Given the description of an element on the screen output the (x, y) to click on. 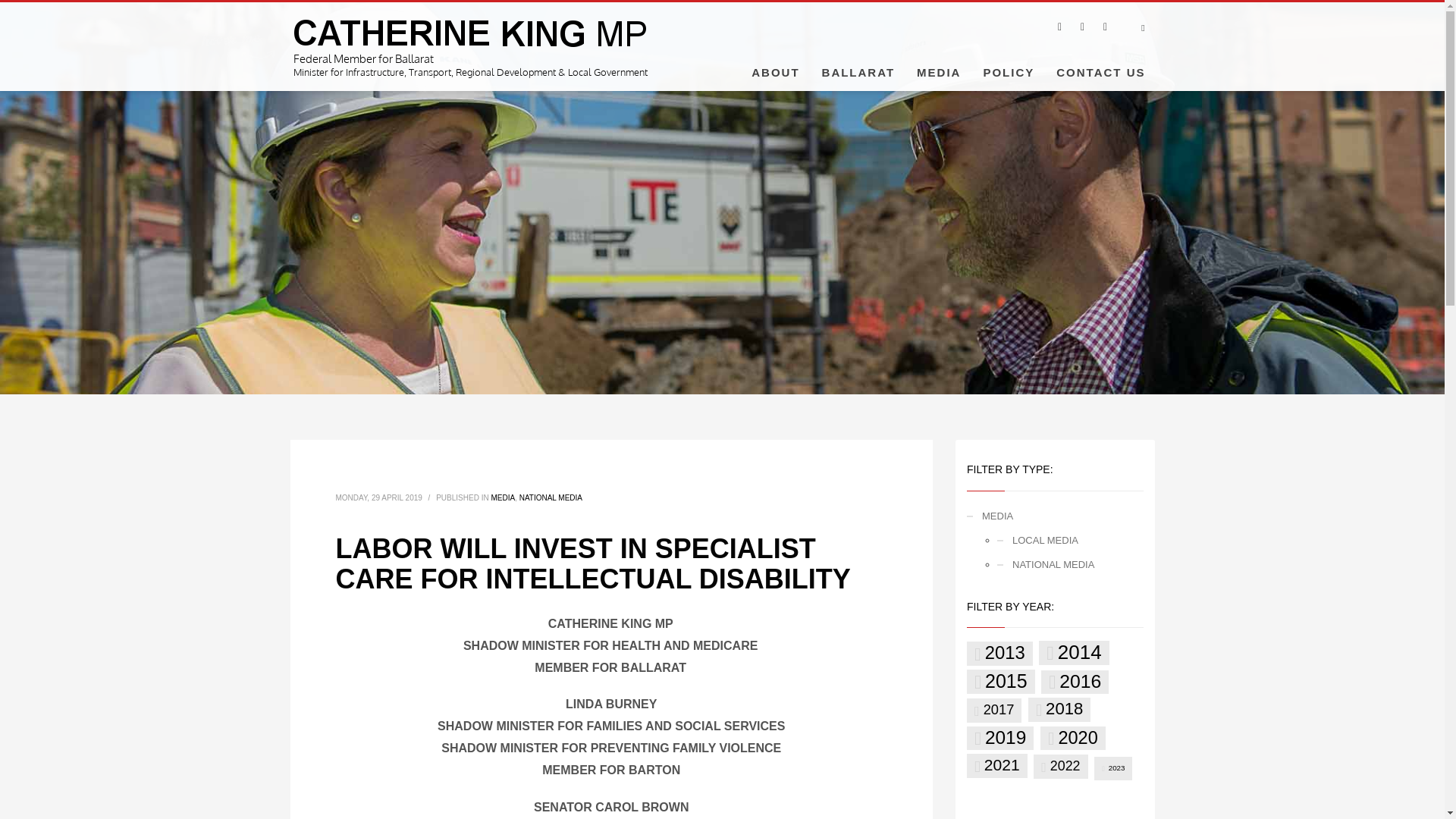
POLICY (1008, 71)
MEDIA (938, 71)
2013 (999, 653)
2022 (1060, 766)
2018 (1058, 709)
ABOUT (775, 71)
LOCAL MEDIA (1069, 540)
CONTACT US (1100, 71)
2021 (996, 765)
2016 (1074, 681)
